Given the description of an element on the screen output the (x, y) to click on. 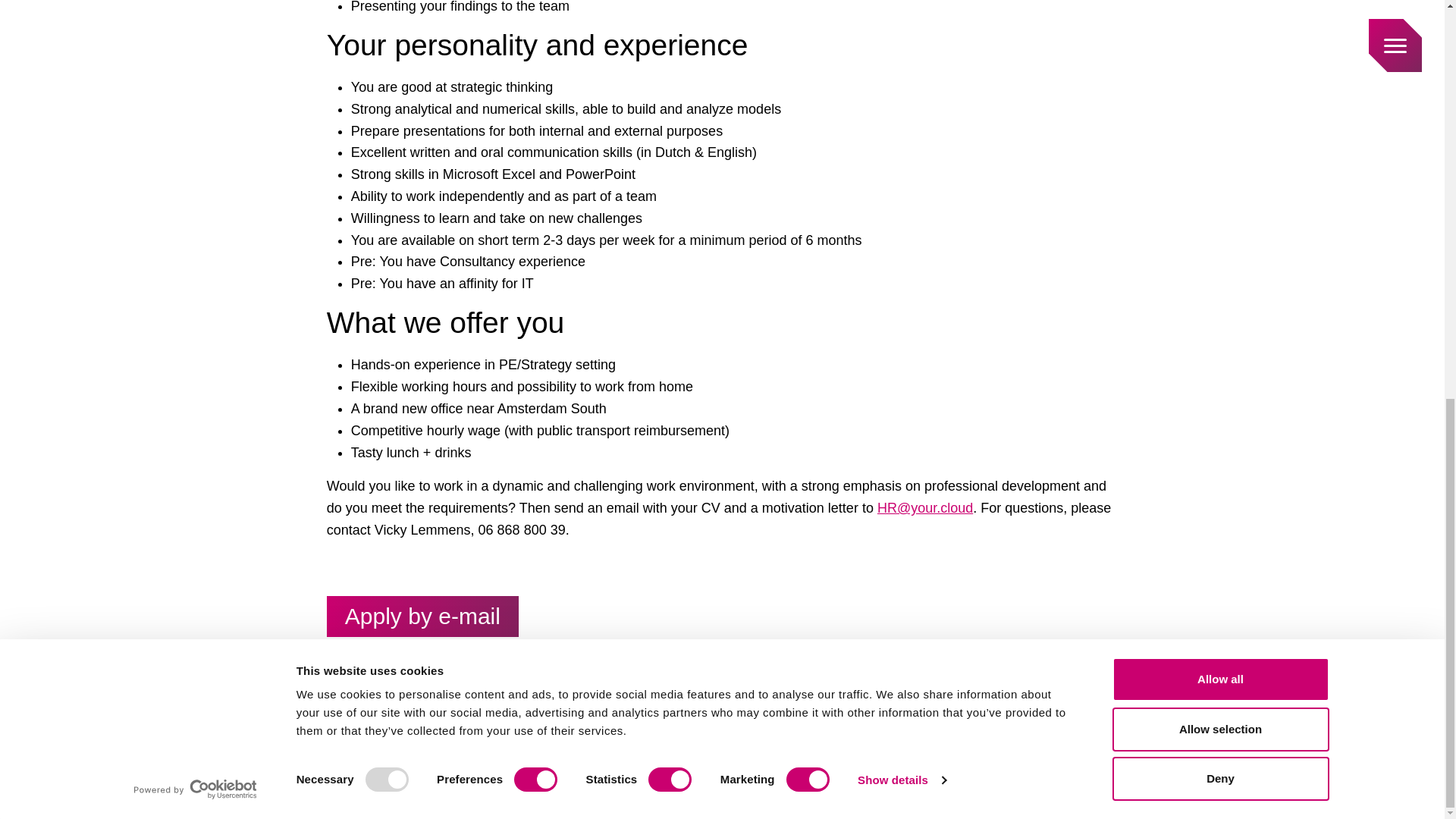
Show details (900, 7)
Deny (1219, 12)
